Given the description of an element on the screen output the (x, y) to click on. 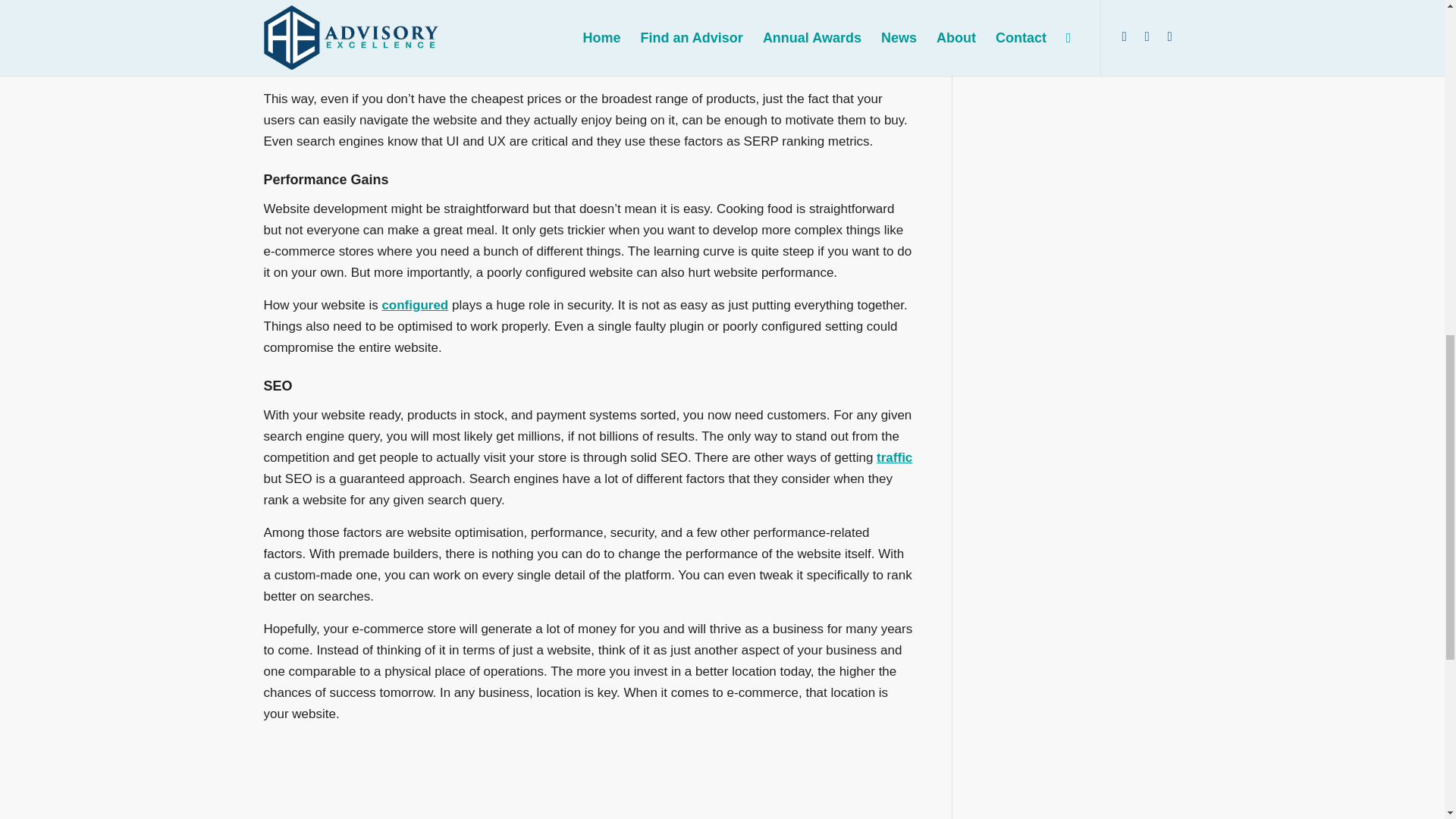
configured (414, 305)
traffic (894, 457)
working with the right app developers (694, 23)
